Given the description of an element on the screen output the (x, y) to click on. 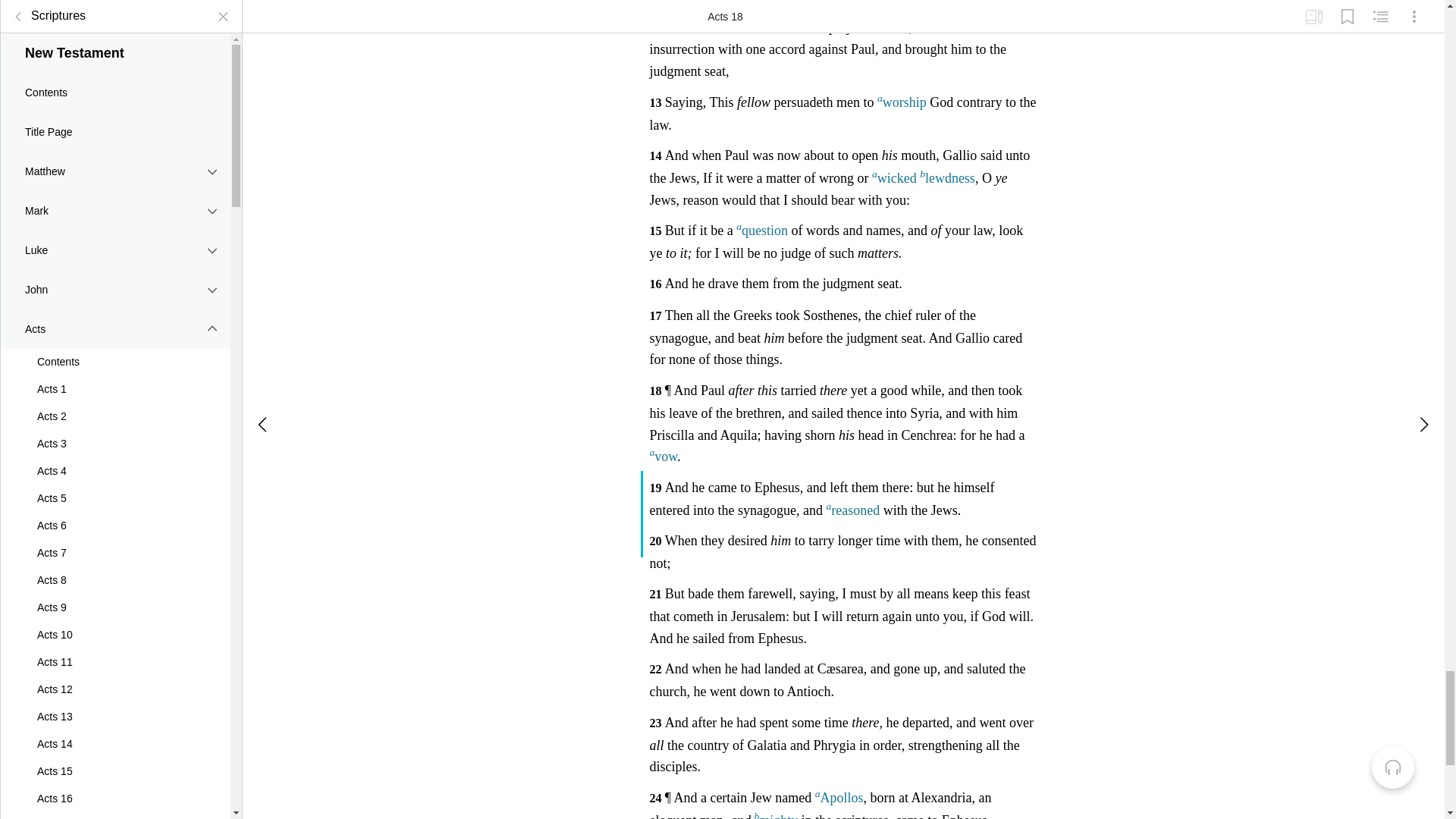
Acts 25 (115, 214)
Acts 19 (115, 50)
Acts 27 (115, 268)
Romans (115, 329)
Acts 22 (115, 132)
Acts 17 (115, 4)
1 Corinthians (115, 369)
Acts 26 (115, 241)
Acts 23 (115, 159)
Acts 21 (115, 104)
Acts 28 (115, 296)
Acts 20 (115, 77)
Acts 18 (115, 22)
Acts 24 (115, 186)
